Given the description of an element on the screen output the (x, y) to click on. 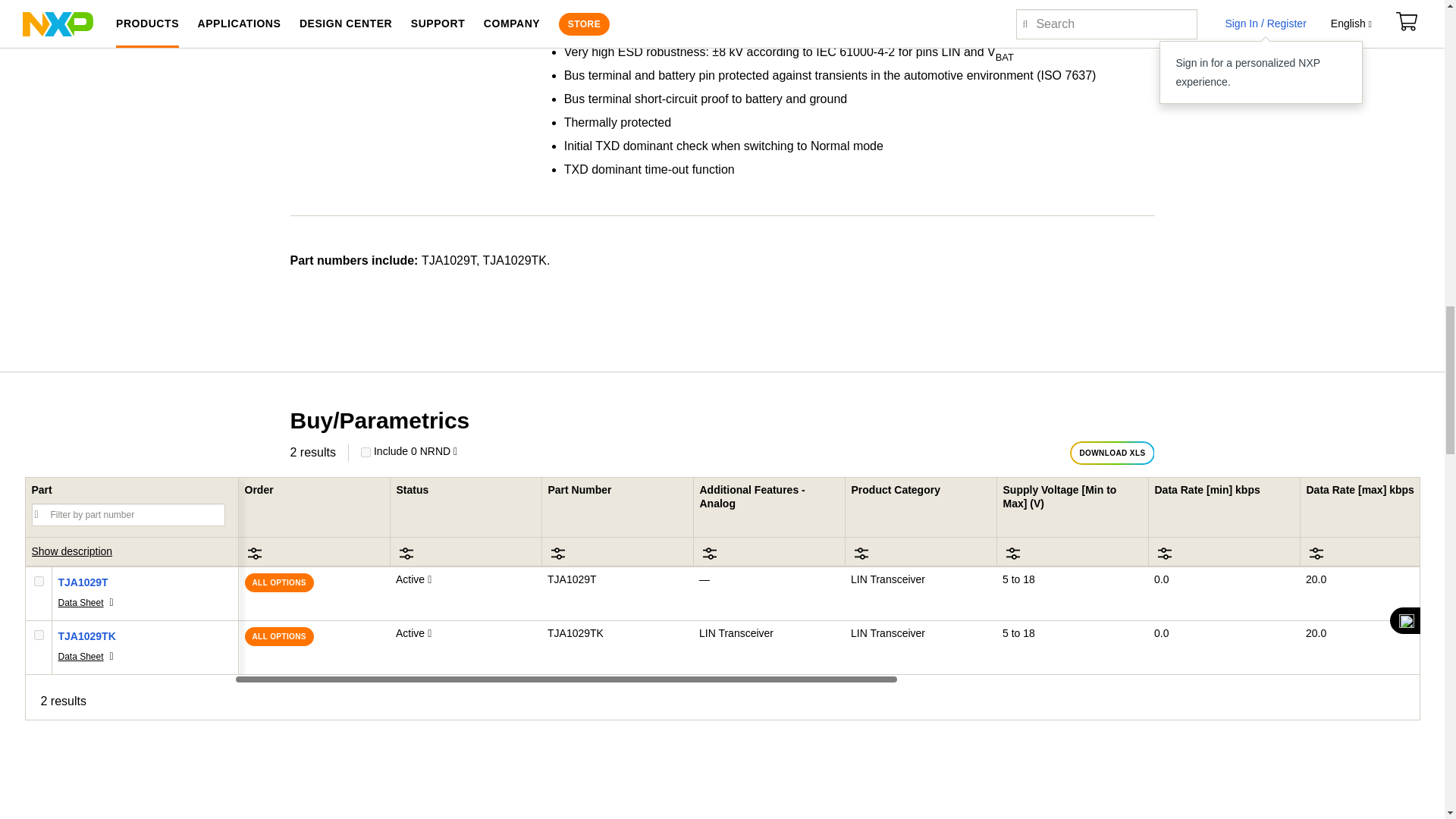
on (366, 452)
on (38, 581)
on (38, 634)
